Given the description of an element on the screen output the (x, y) to click on. 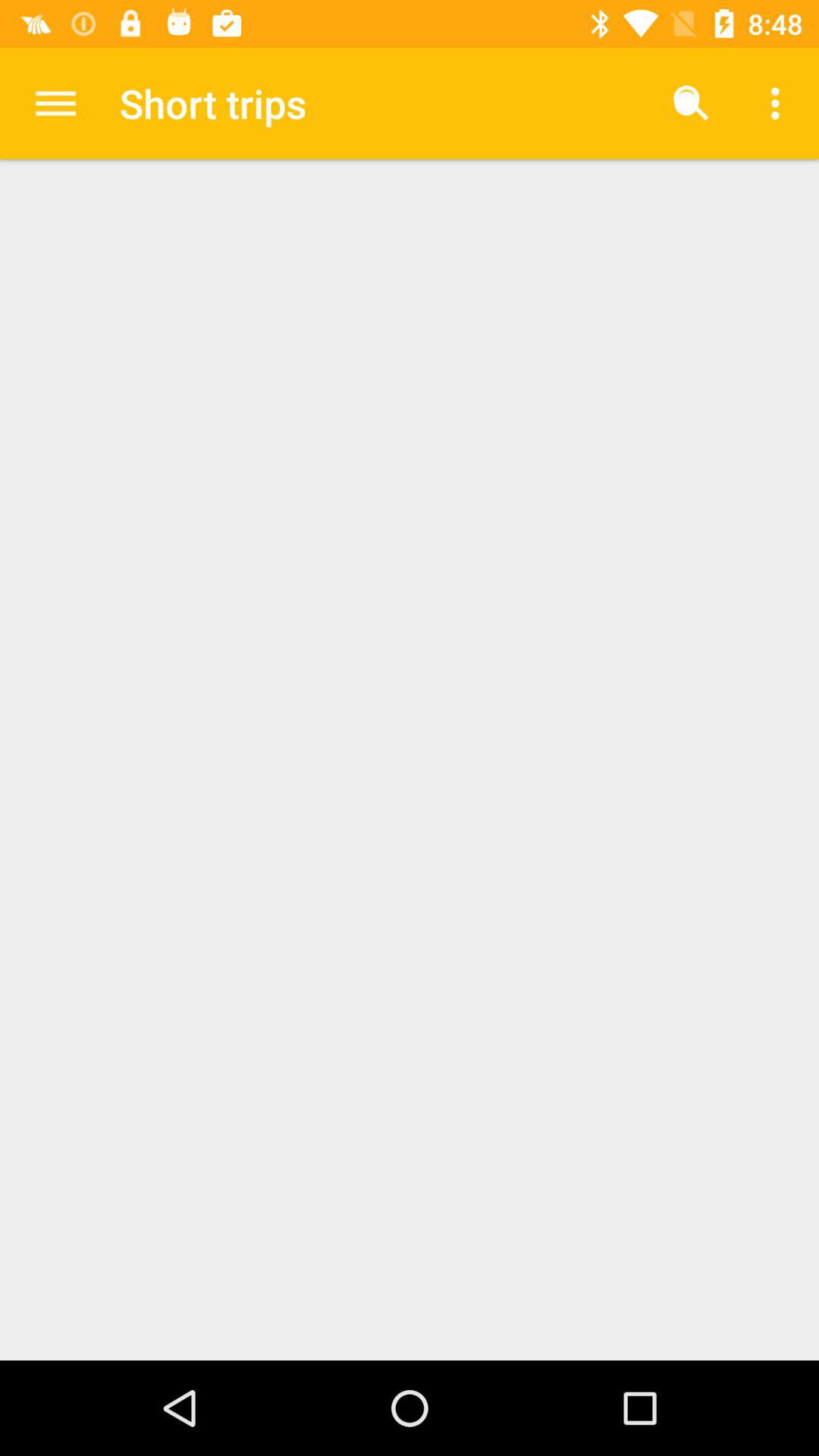
open icon to the right of the short trips (691, 103)
